Given the description of an element on the screen output the (x, y) to click on. 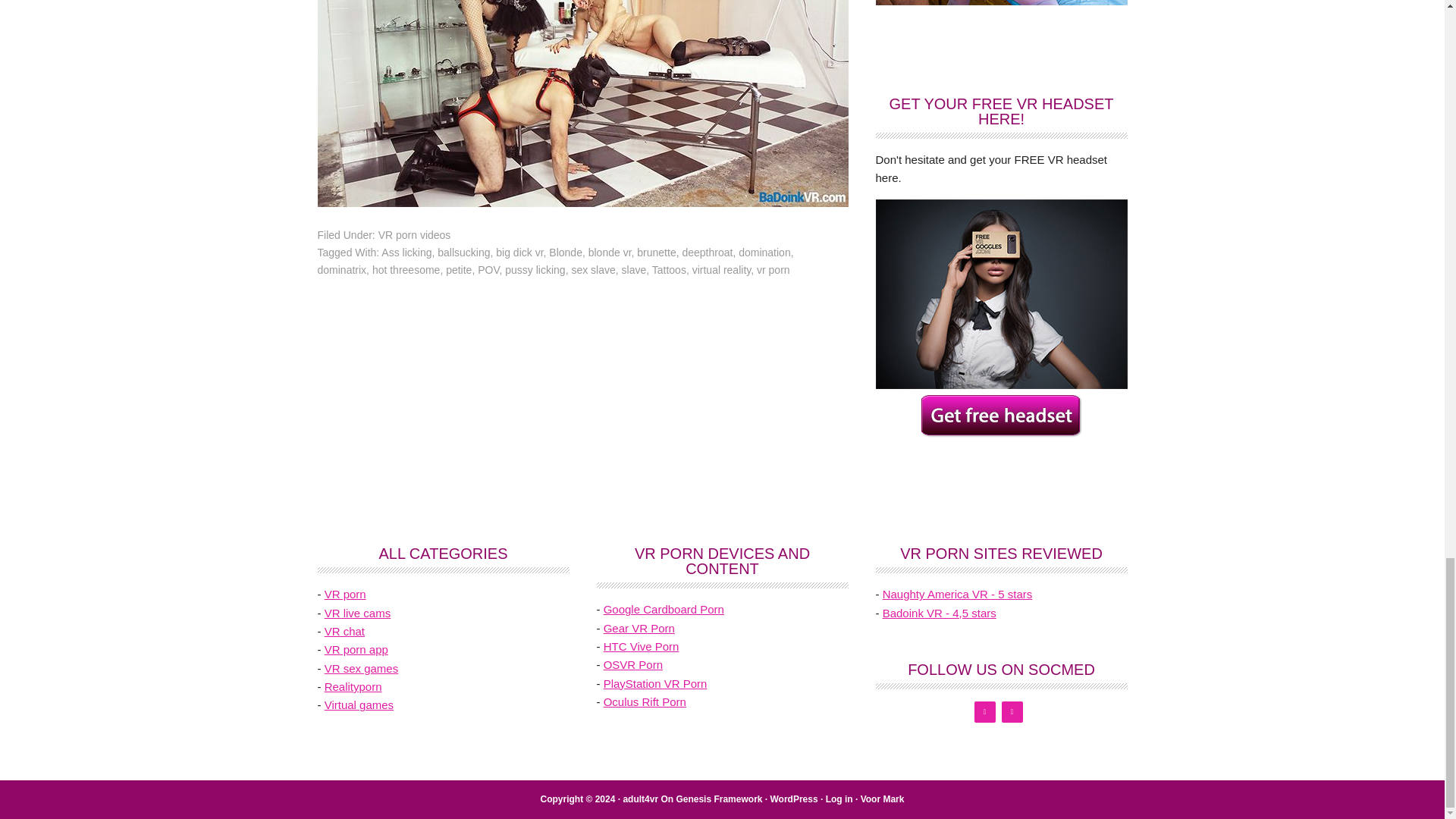
domination (764, 252)
big dick vr (519, 252)
POV (488, 269)
blonde vr (609, 252)
brunette (656, 252)
virtual reality (722, 269)
Blonde (565, 252)
vr porn (773, 269)
ballsucking (463, 252)
slave (633, 269)
deepthroat (706, 252)
Ass licking (405, 252)
dominatrix (341, 269)
Tattoos (668, 269)
hot threesome (406, 269)
